Given the description of an element on the screen output the (x, y) to click on. 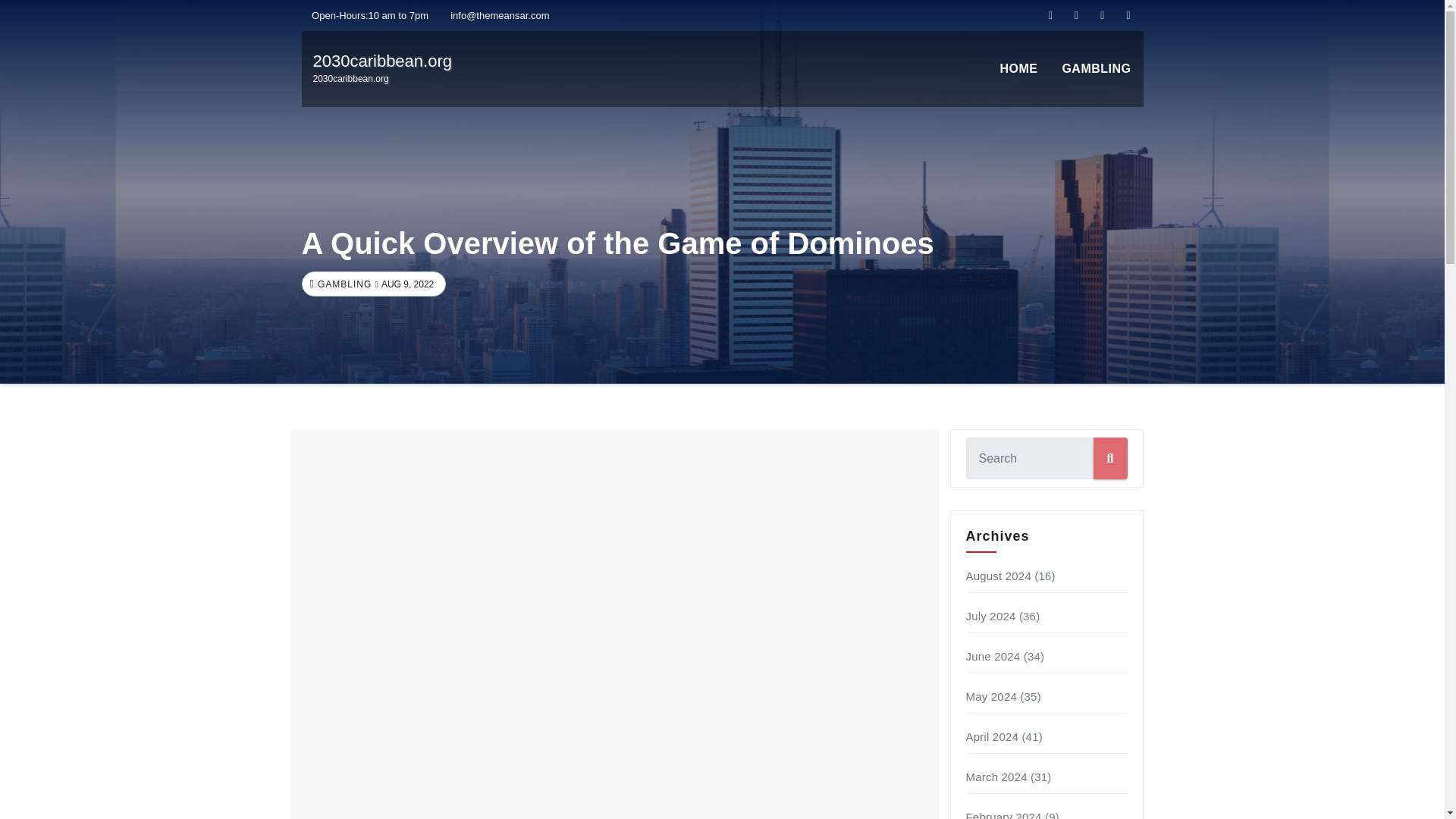
February 2024 (1004, 814)
GAMBLING (342, 284)
May 2024 (991, 696)
April 2024 (992, 736)
June 2024 (993, 656)
March 2024 (996, 776)
Open-Hours:10 am to 7pm (365, 15)
August 2024 (998, 575)
Gambling (382, 68)
